Given the description of an element on the screen output the (x, y) to click on. 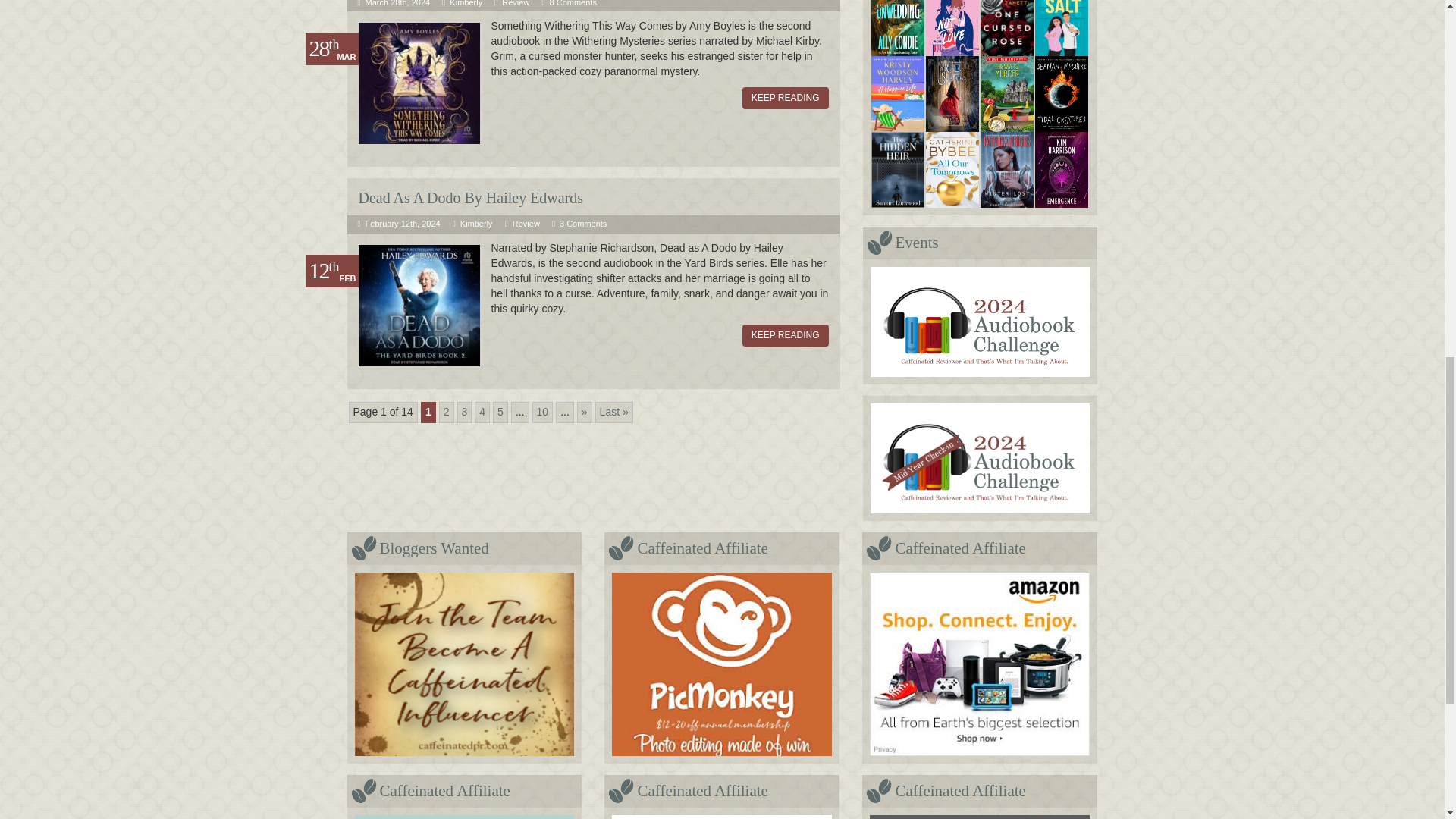
Dead as a Dodo by Hailey Edwards (470, 197)
Page 10 (542, 412)
Dead as a Dodo by Hailey Edwards (418, 304)
Something Withering This Way Comes by Amy Boyles (418, 82)
